Given the description of an element on the screen output the (x, y) to click on. 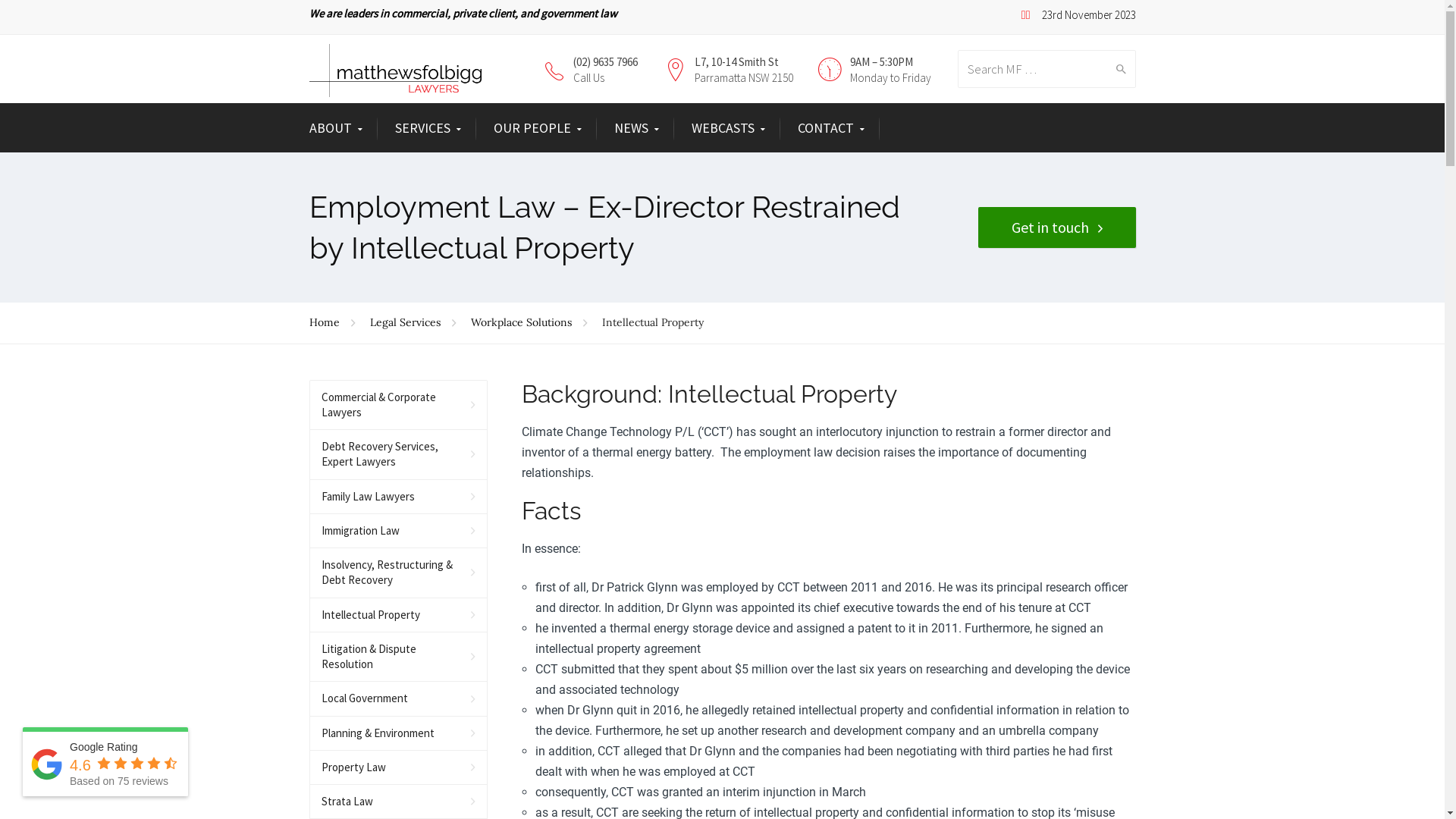
ABOUT Element type: text (335, 128)
Family Law Lawyers Element type: text (398, 497)
Legal Services Element type: text (413, 322)
Insolvency, Restructuring & Debt Recovery Element type: text (398, 573)
OUR PEOPLE Element type: text (536, 128)
Litigation & Dispute Resolution Element type: text (398, 657)
CONTACT Element type: text (830, 128)
Debt Recovery Services, Expert Lawyers Element type: text (398, 454)
Search Element type: text (1117, 68)
Planning & Environment Element type: text (398, 733)
Immigration Law Element type: text (398, 531)
Get in touch Element type: text (1056, 227)
WEBCASTS Element type: text (728, 128)
NEWS Element type: text (636, 128)
Local Government Element type: text (398, 698)
Property Law Element type: text (398, 767)
SERVICES Element type: text (427, 128)
Commercial & Corporate Lawyers Element type: text (398, 405)
Intellectual Property Element type: text (398, 615)
Home Element type: text (332, 322)
Workplace Solutions Element type: text (528, 322)
